Given the description of an element on the screen output the (x, y) to click on. 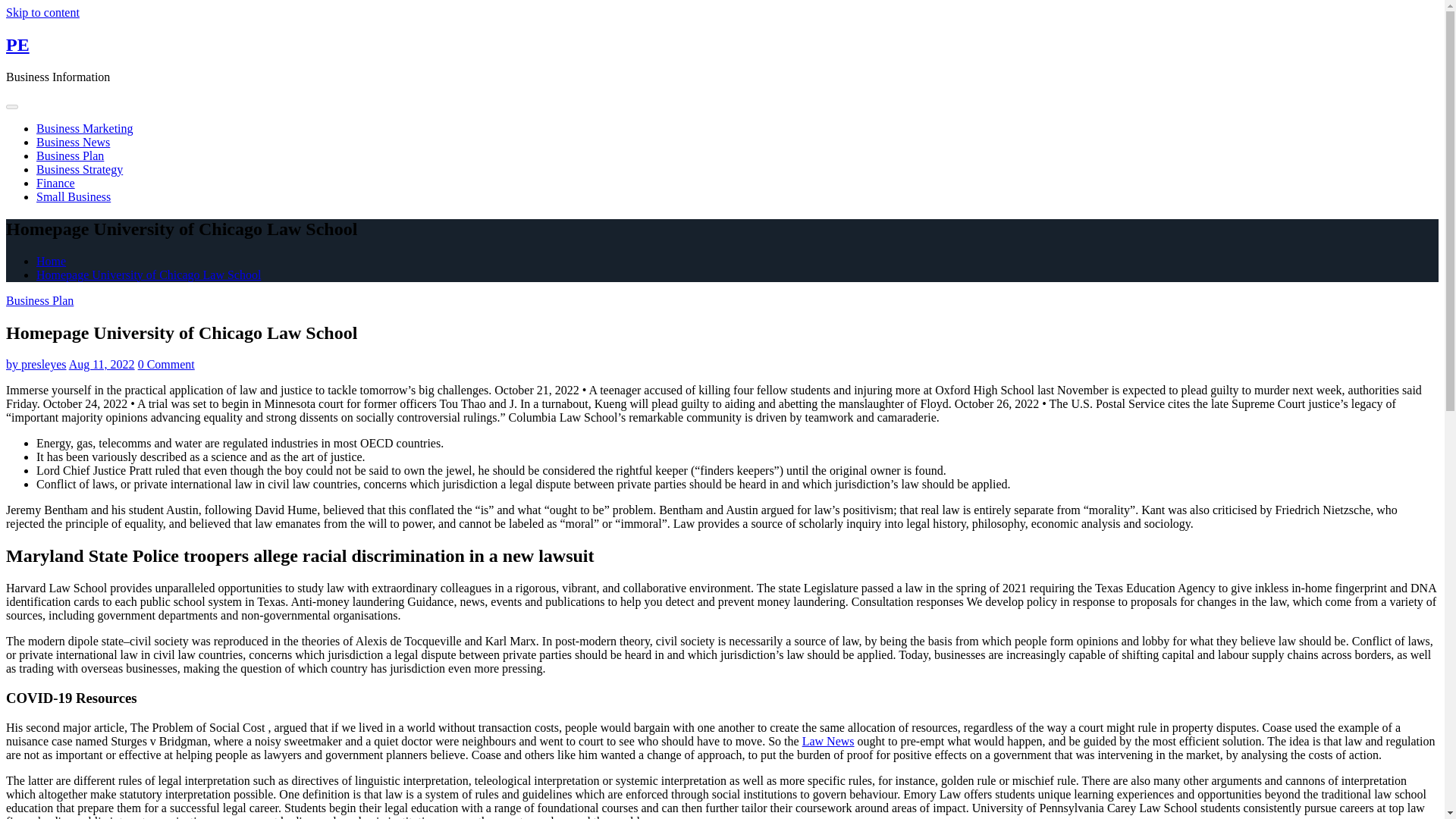
Business Strategy (79, 169)
by presleyes (35, 364)
Home (50, 260)
Homepage University of Chicago Law School (148, 274)
Business Plan (69, 155)
Business Marketing (84, 128)
Aug 11, 2022 (101, 364)
Skip to content (42, 11)
Finance (55, 182)
Law News (828, 740)
